Given the description of an element on the screen output the (x, y) to click on. 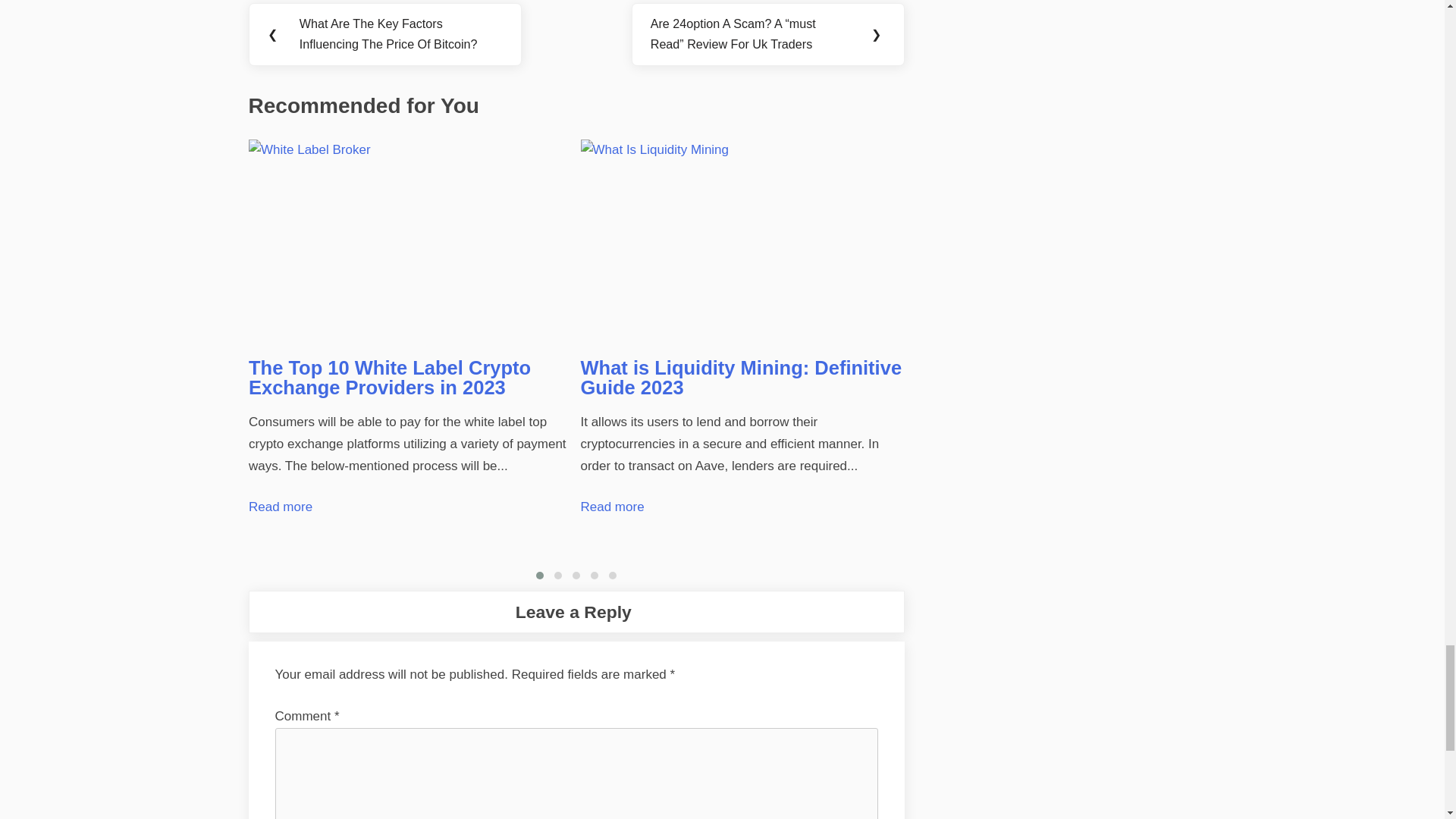
The Top 10 White Label Crypto Exchange Providers in 2023 (410, 241)
What is Liquidity Mining: Definitive Guide 2023 (742, 241)
The Top 10 White Label Crypto Exchange Providers in 2023 (389, 377)
Read more (280, 506)
What is Liquidity Mining: Definitive Guide 2023 (741, 377)
